Given the description of an element on the screen output the (x, y) to click on. 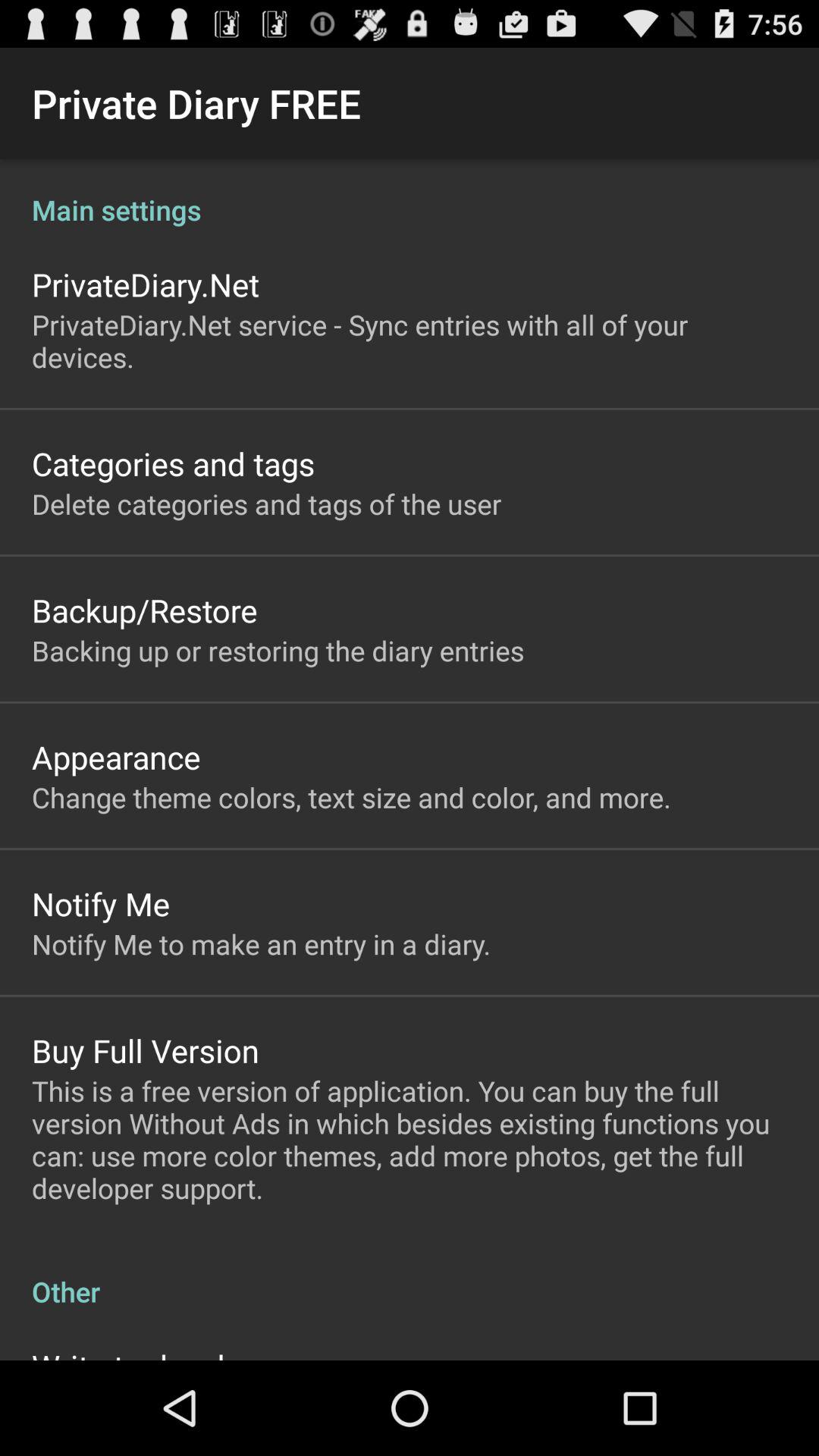
jump to the appearance icon (115, 756)
